Given the description of an element on the screen output the (x, y) to click on. 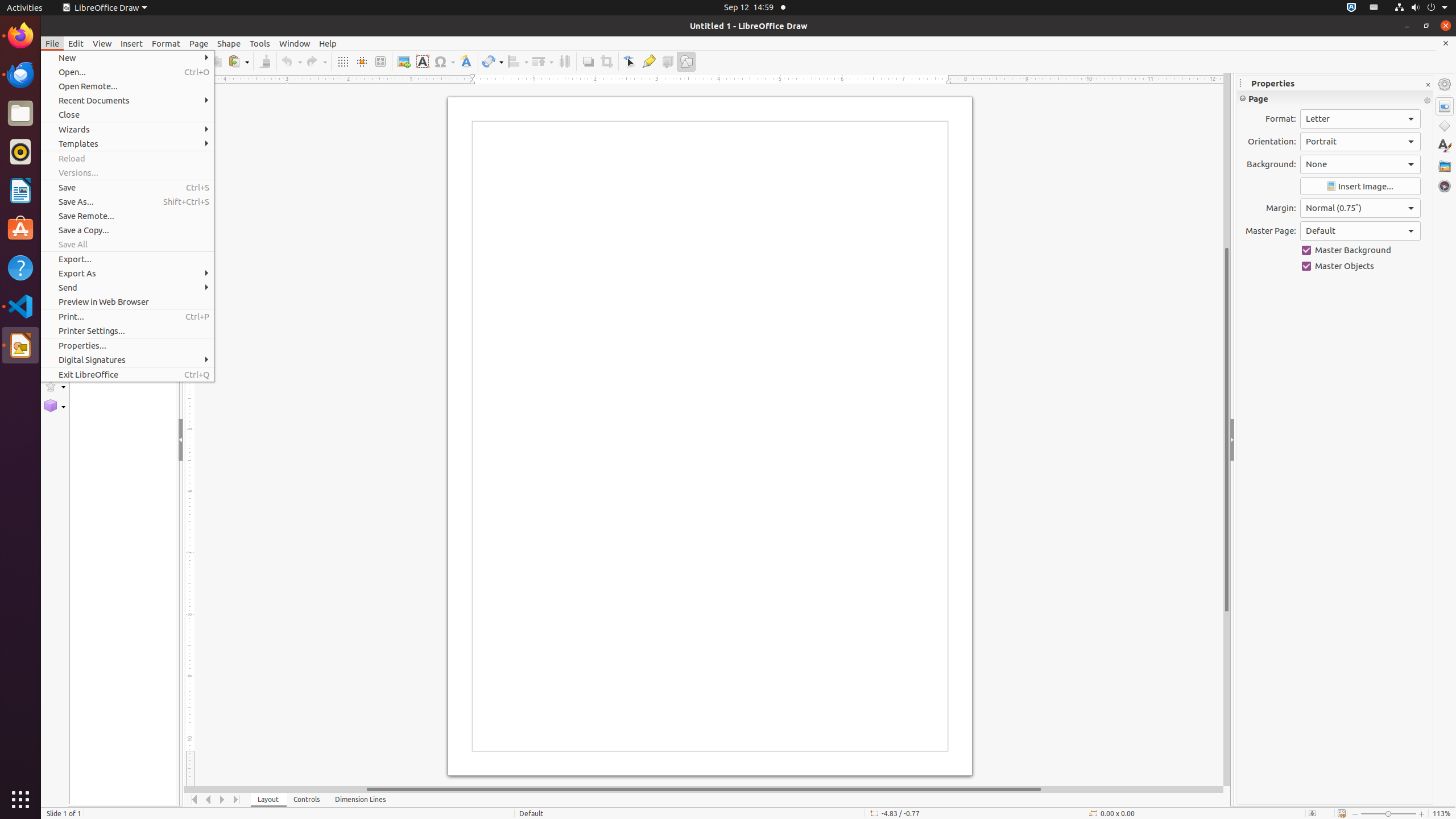
Controls Element type: page-tab (307, 799)
Gallery Element type: radio-button (1444, 165)
Export As Element type: menu (127, 273)
Format Element type: menu (165, 43)
Save Element type: menu-item (127, 187)
